Given the description of an element on the screen output the (x, y) to click on. 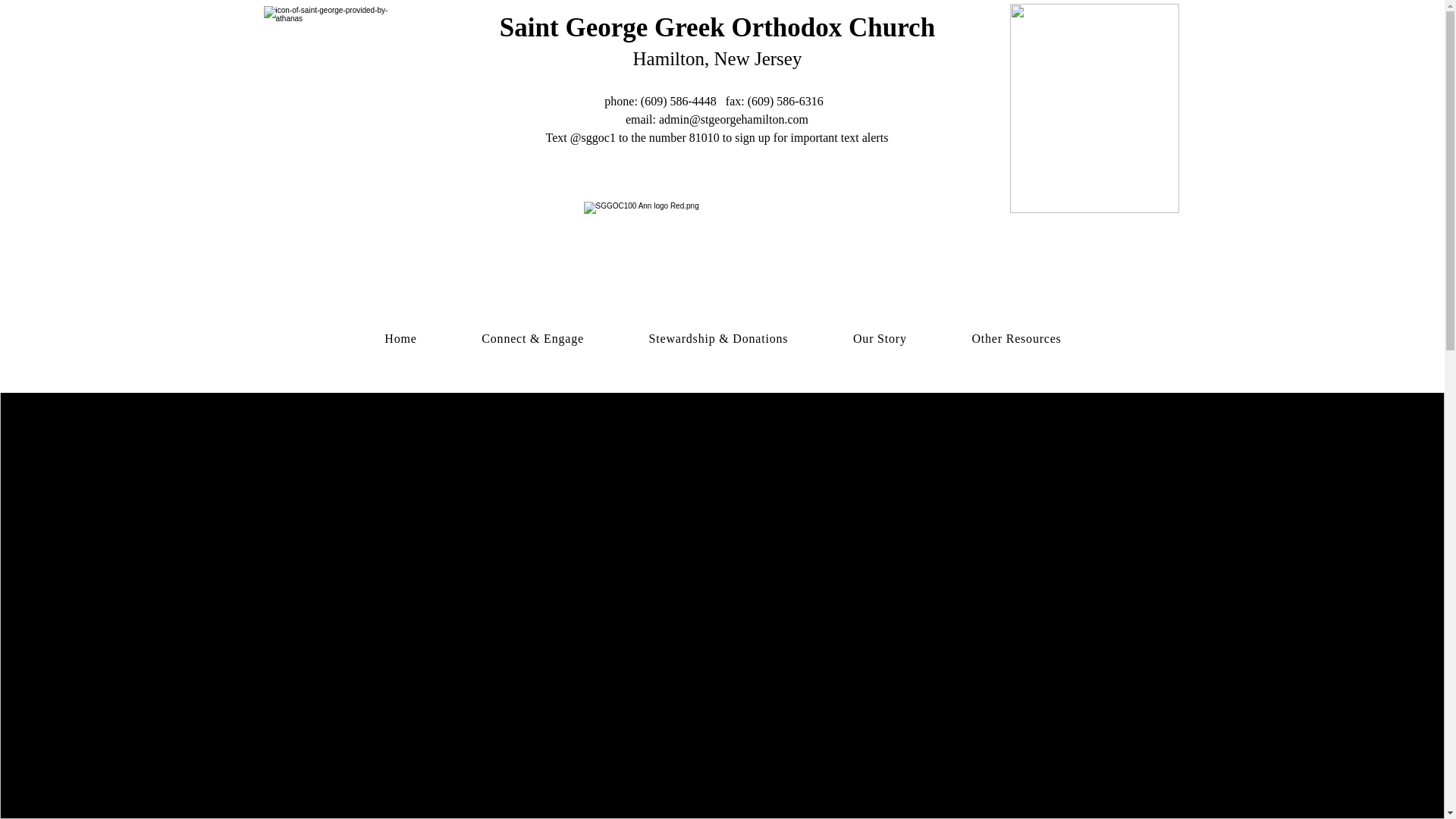
Home (400, 338)
